Given the description of an element on the screen output the (x, y) to click on. 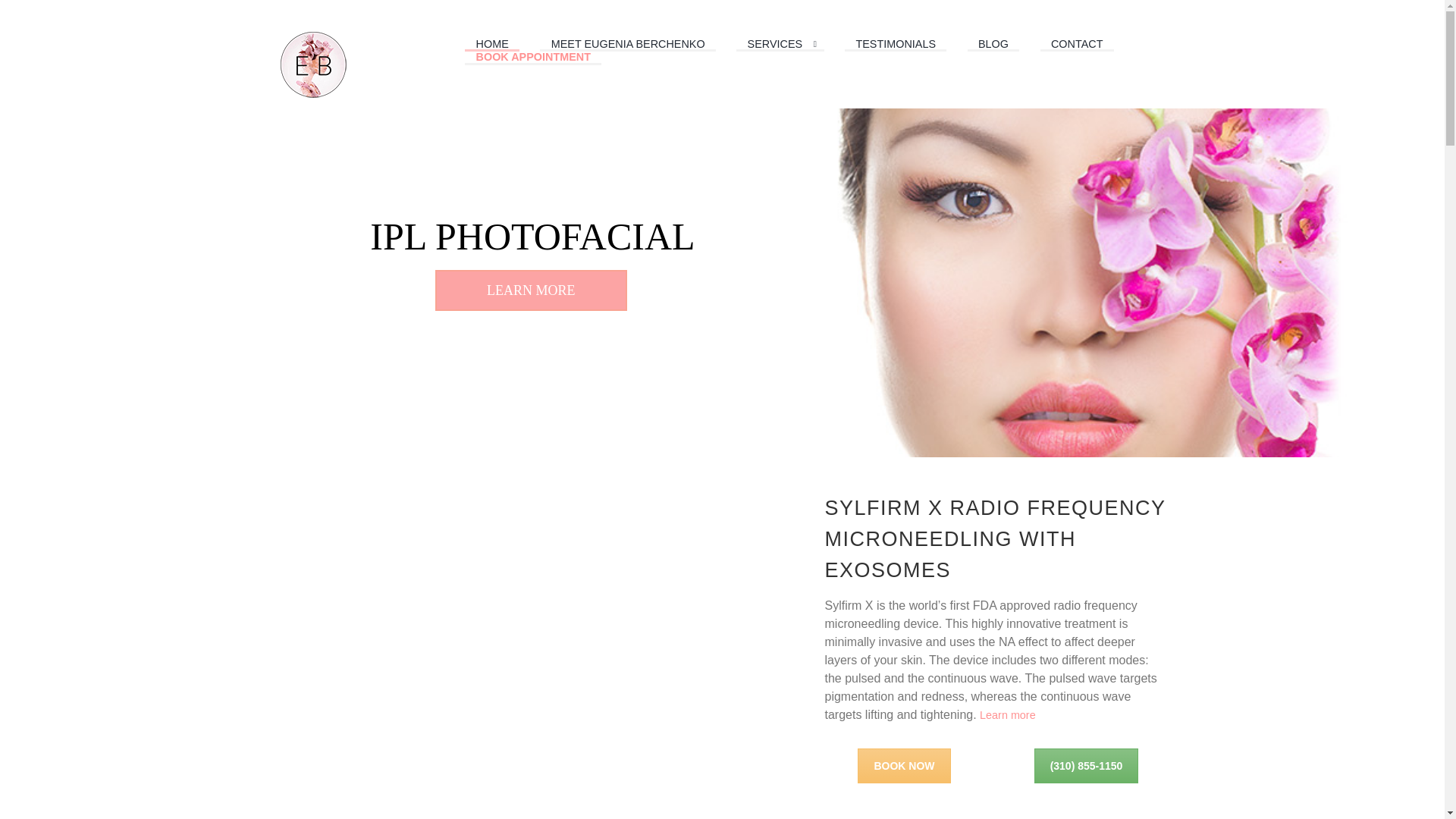
MEET EUGENIA BERCHENKO (628, 44)
SERVICES (780, 44)
BOOK APPOINTMENT (532, 57)
CONTACT (1077, 44)
TESTIMONIALS (895, 44)
BLOG (994, 44)
HOME (491, 44)
YouTube video player (521, 634)
Book Appointment (903, 765)
